Given the description of an element on the screen output the (x, y) to click on. 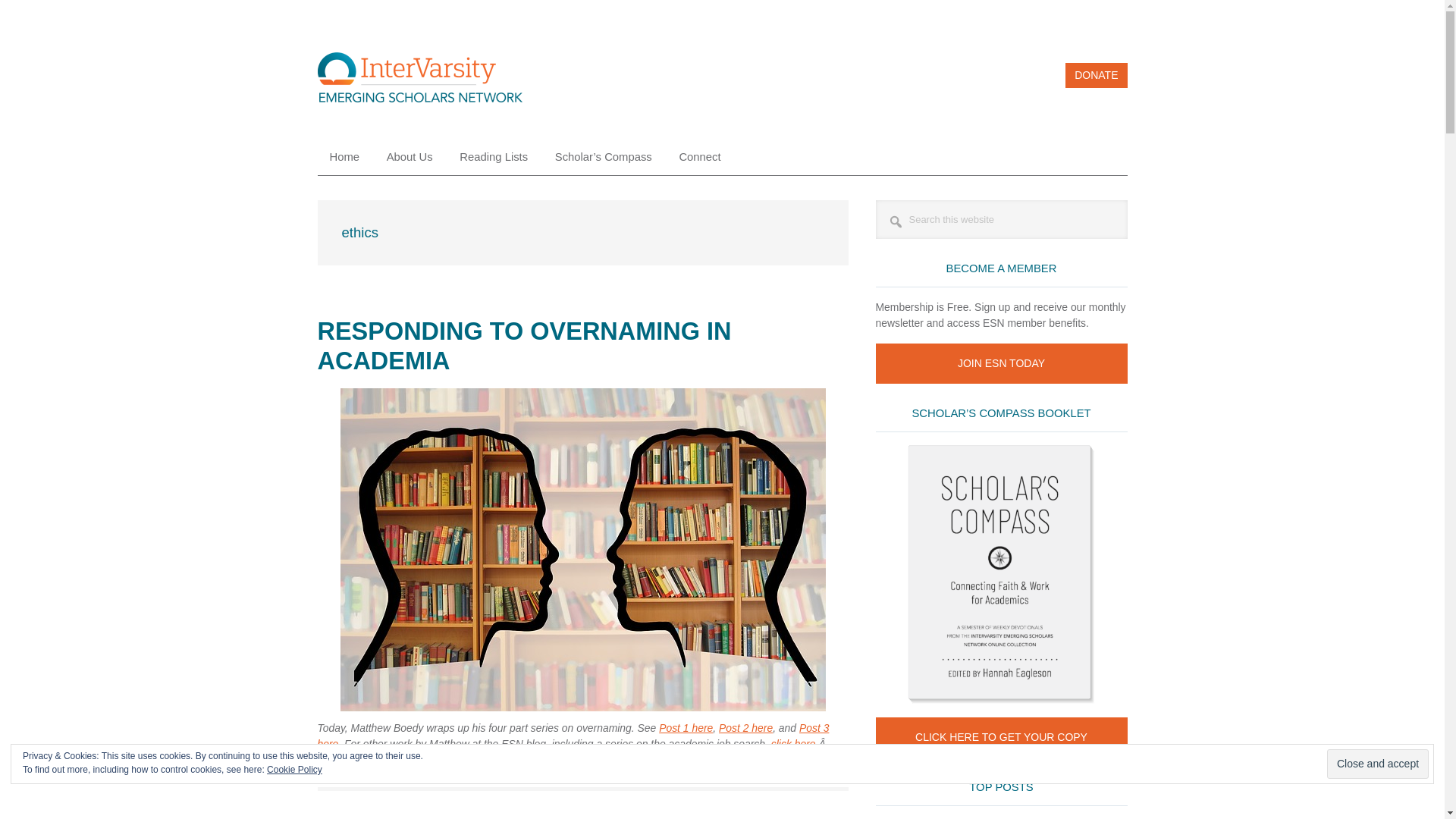
EMERGING SCHOLARS BLOG (419, 81)
Reading Lists (493, 157)
Post 3 here. (572, 735)
DONATE (1095, 75)
Post 1 here (686, 727)
Connect (699, 157)
click here (793, 743)
About Us (409, 157)
Close and accept (1377, 763)
Post 2 here (746, 727)
Home (344, 157)
RESPONDING TO OVERNAMING IN ACADEMIA (523, 345)
